Given the description of an element on the screen output the (x, y) to click on. 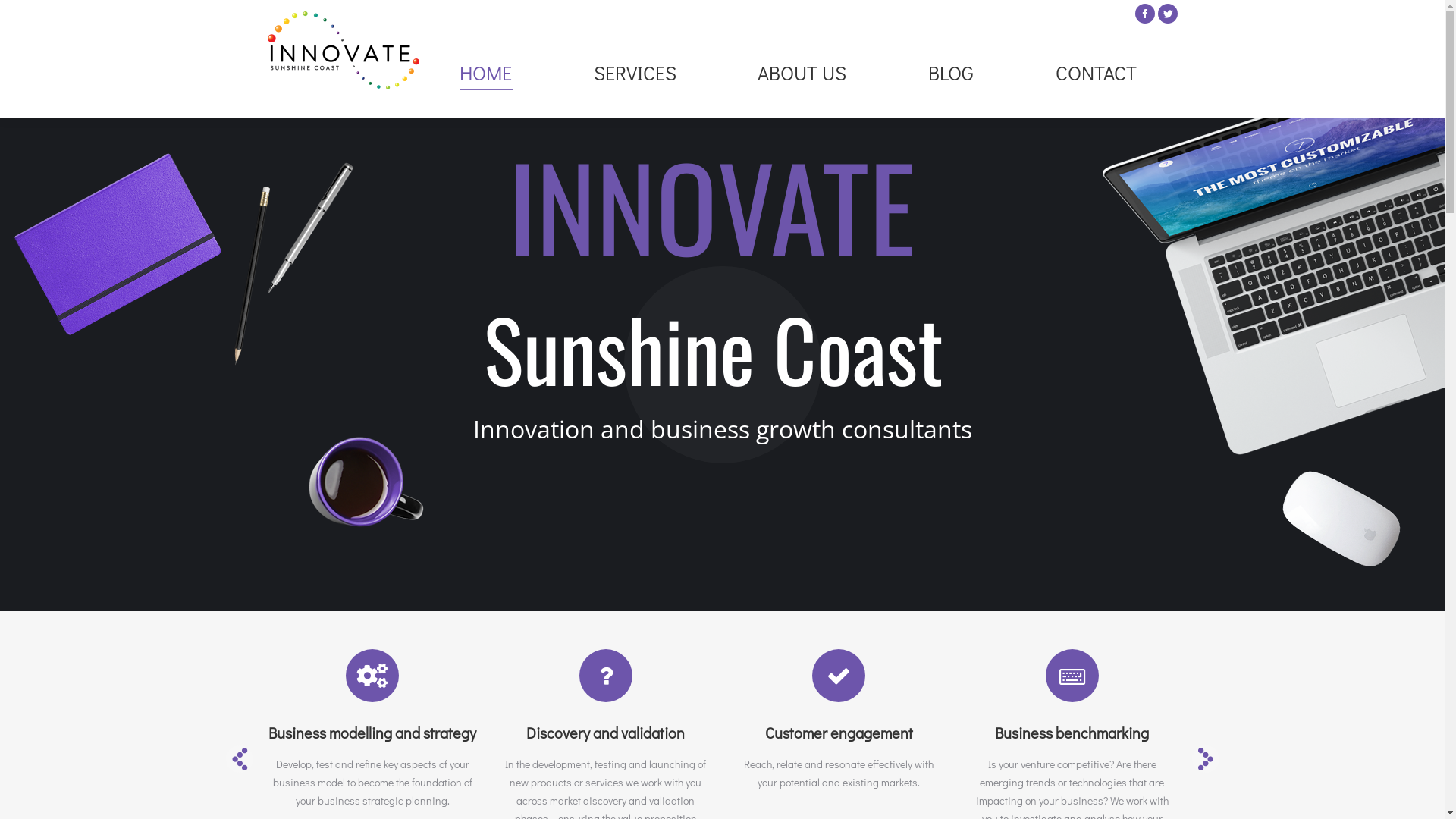
CONTACT Element type: text (1095, 72)
Facebook page opens in new window Element type: text (1144, 13)
BLOG Element type: text (950, 72)
Twitter page opens in new window Element type: text (1166, 13)
SERVICES Element type: text (634, 72)
HOME Element type: text (485, 72)
submit Element type: text (142, 15)
ABOUT US Element type: text (802, 72)
